Given the description of an element on the screen output the (x, y) to click on. 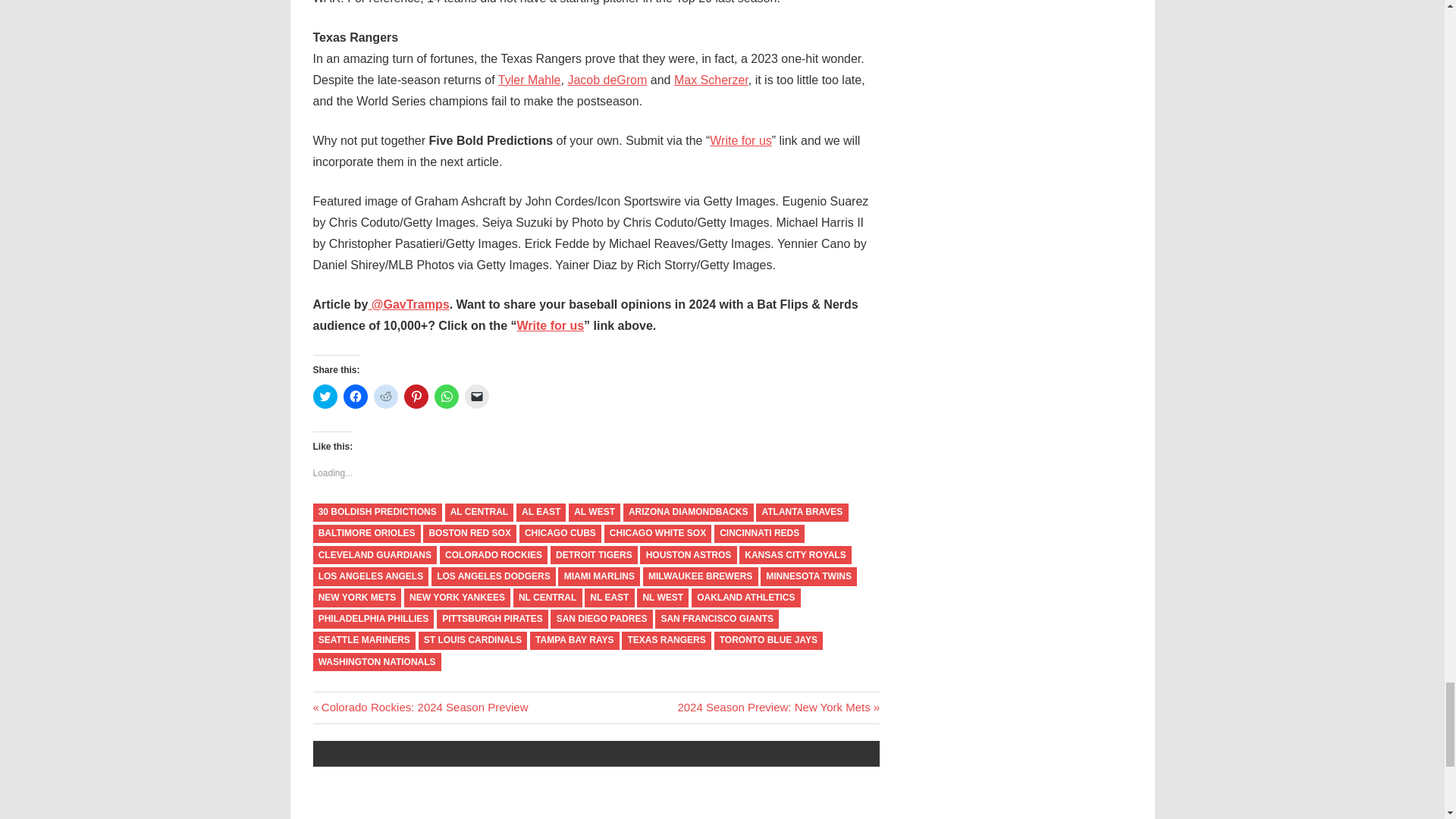
Click to share on WhatsApp (445, 396)
Comment Form (596, 806)
Click to share on Twitter (324, 396)
Click to share on Facebook (354, 396)
Click to email a link to a friend (475, 396)
Click to share on Pinterest (415, 396)
Click to share on Reddit (384, 396)
